Given the description of an element on the screen output the (x, y) to click on. 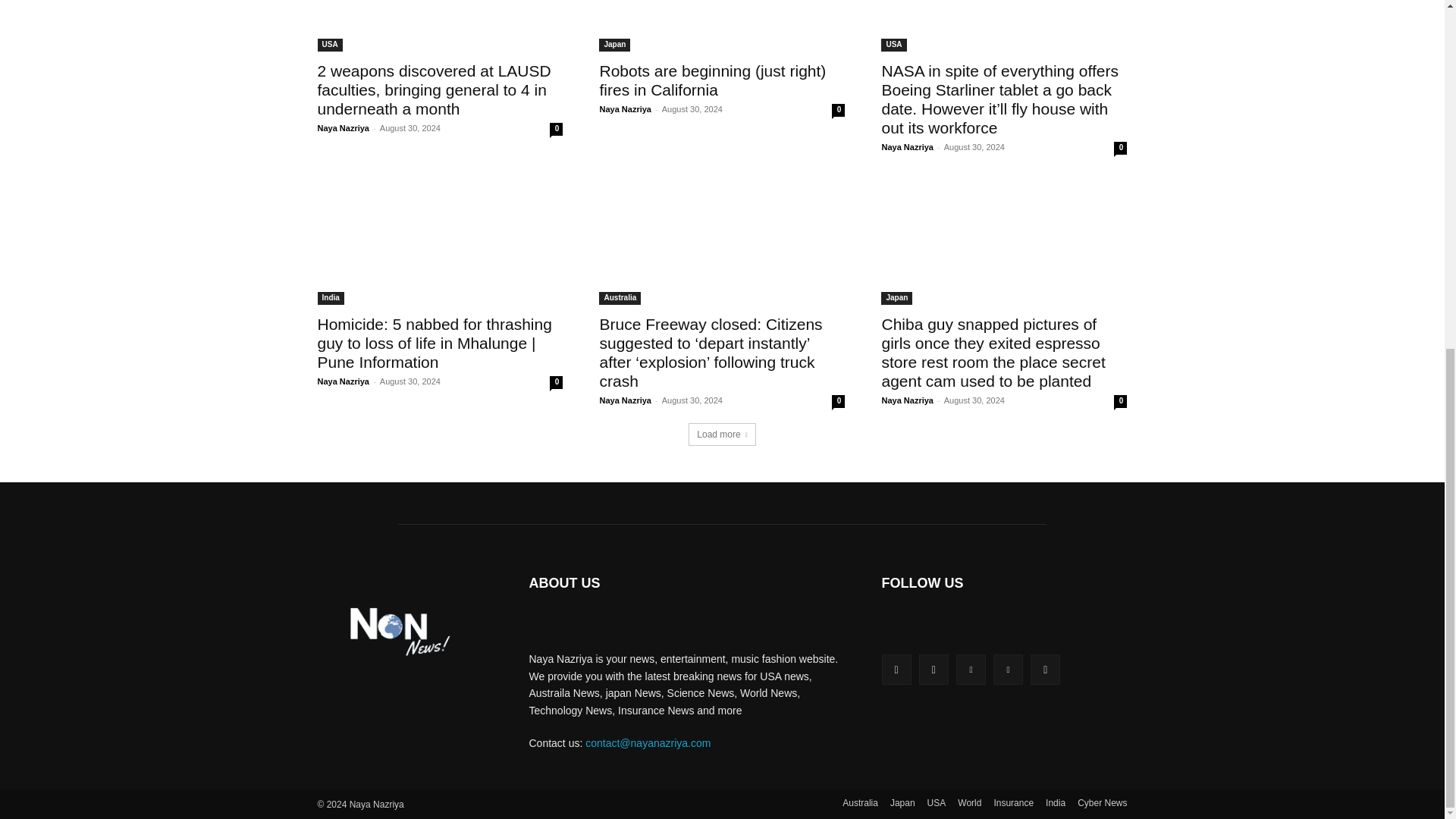
0 (837, 110)
Naya Nazriya (906, 146)
Naya Nazriya (624, 108)
Japan (614, 44)
USA (329, 44)
India (330, 297)
0 (1119, 147)
